Given the description of an element on the screen output the (x, y) to click on. 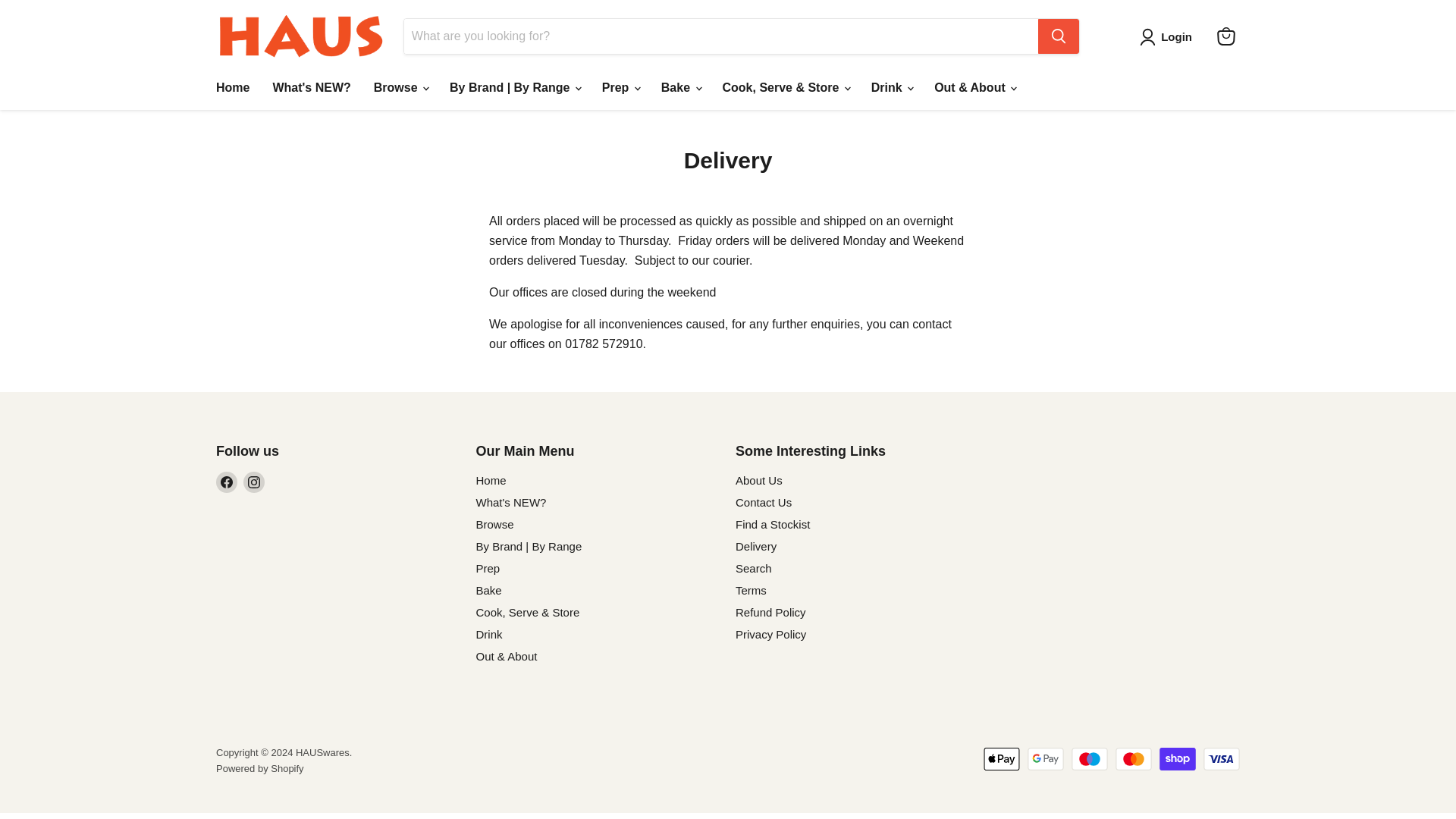
View cart (1226, 36)
Home (232, 88)
Maestro (1089, 758)
Google Pay (1045, 758)
Apple Pay (1002, 758)
Instagram (253, 482)
Visa (1222, 758)
What's NEW? (310, 88)
Login (1169, 36)
Facebook (226, 482)
Shop Pay (1176, 758)
Mastercard (1133, 758)
